Given the description of an element on the screen output the (x, y) to click on. 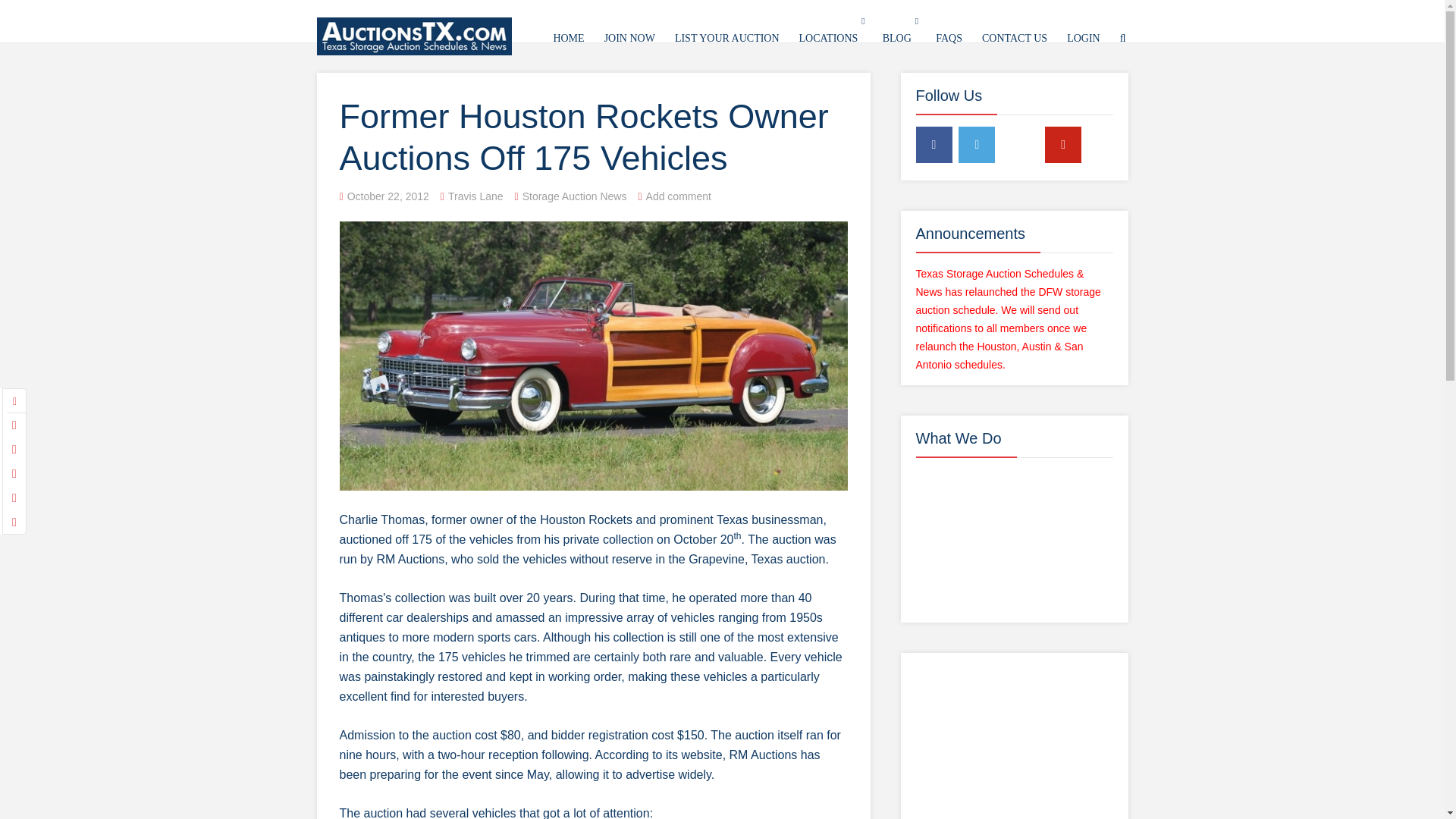
LIST YOUR AUCTION (726, 38)
Add comment (678, 196)
Twitter (976, 144)
Facebook (933, 144)
Pinterest (1063, 144)
Storage Auction News (574, 196)
CONTACT US (1014, 38)
Advertisement (1014, 741)
Travis Lane (475, 196)
